Given the description of an element on the screen output the (x, y) to click on. 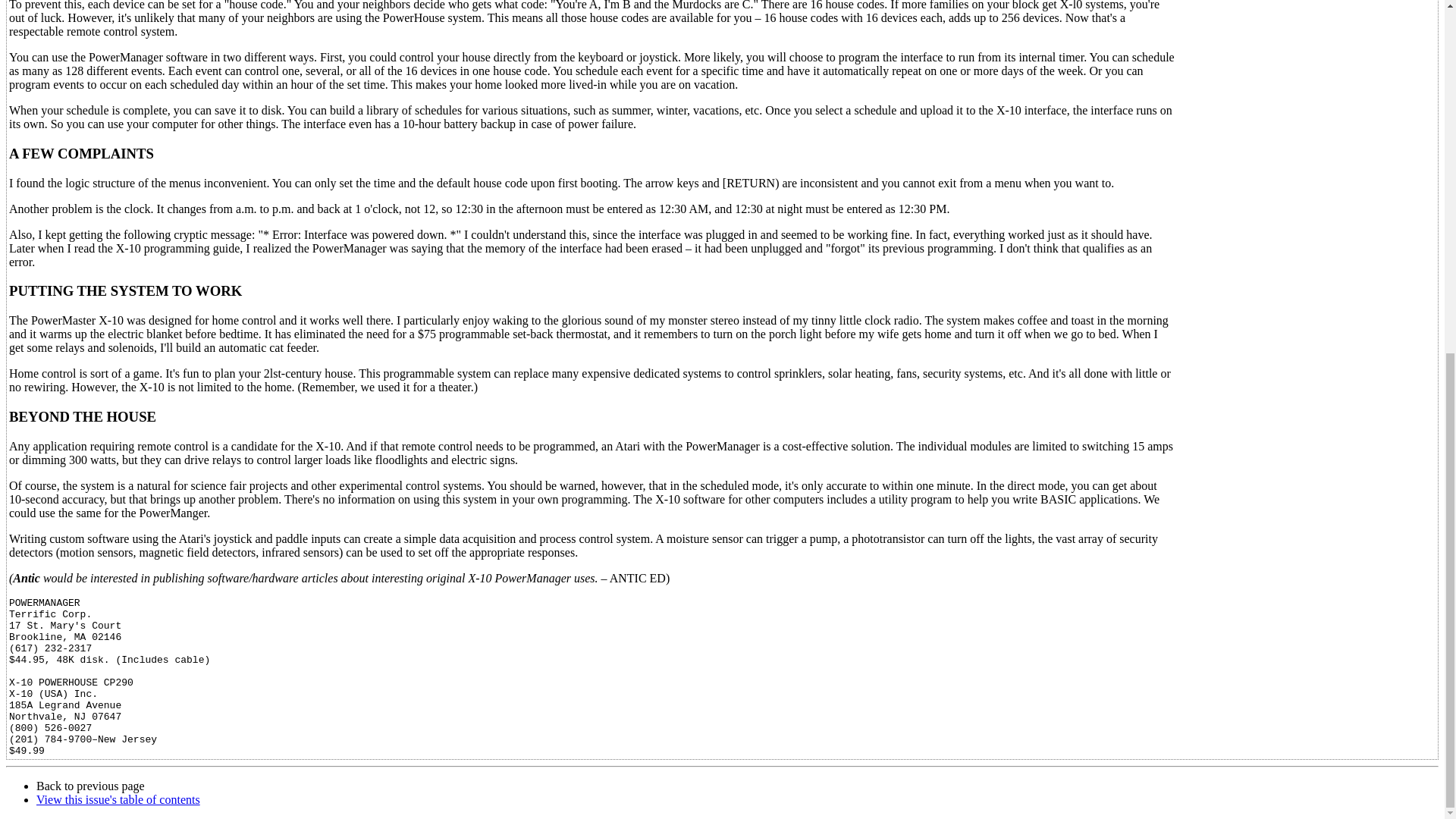
View this issue's table of contents (118, 799)
Back to previous page (90, 785)
